Given the description of an element on the screen output the (x, y) to click on. 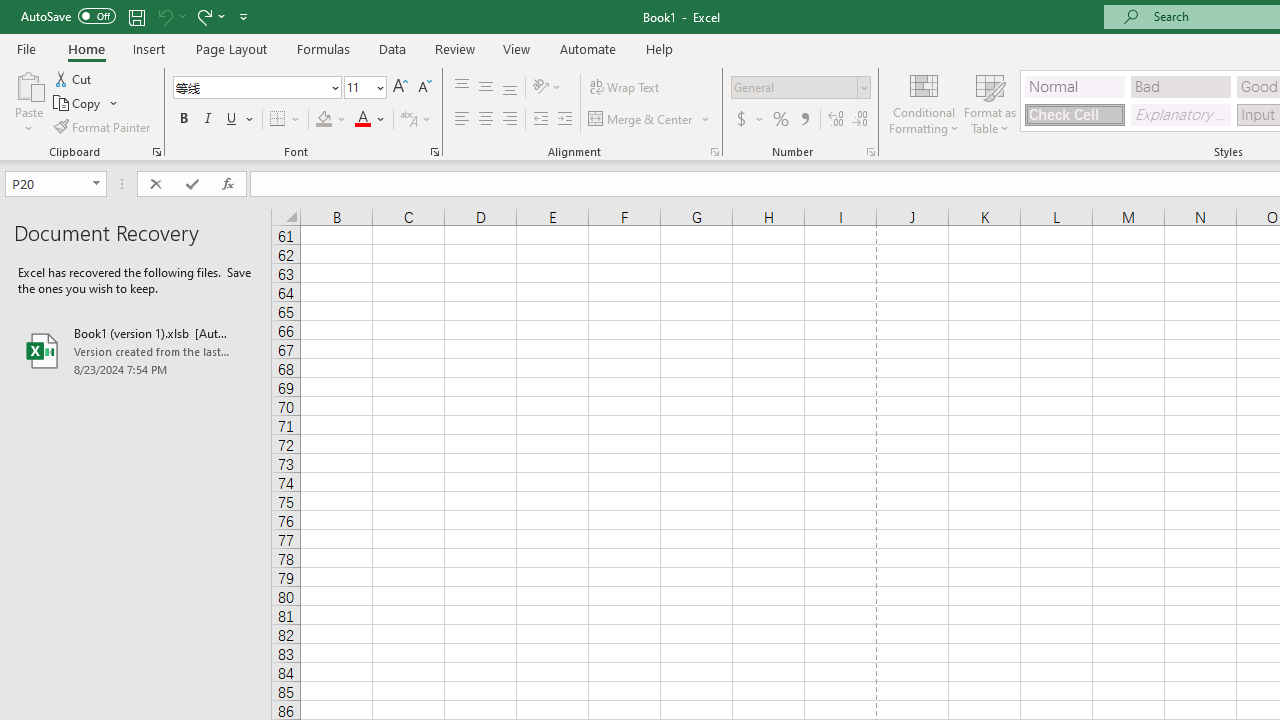
Format Cell Font (434, 151)
Font (256, 87)
Conditional Formatting (924, 102)
Accounting Number Format (741, 119)
Format Painter (103, 126)
Borders (285, 119)
Fill Color (331, 119)
Comma Style (804, 119)
Decrease Decimal (859, 119)
Number Format (794, 87)
